Given the description of an element on the screen output the (x, y) to click on. 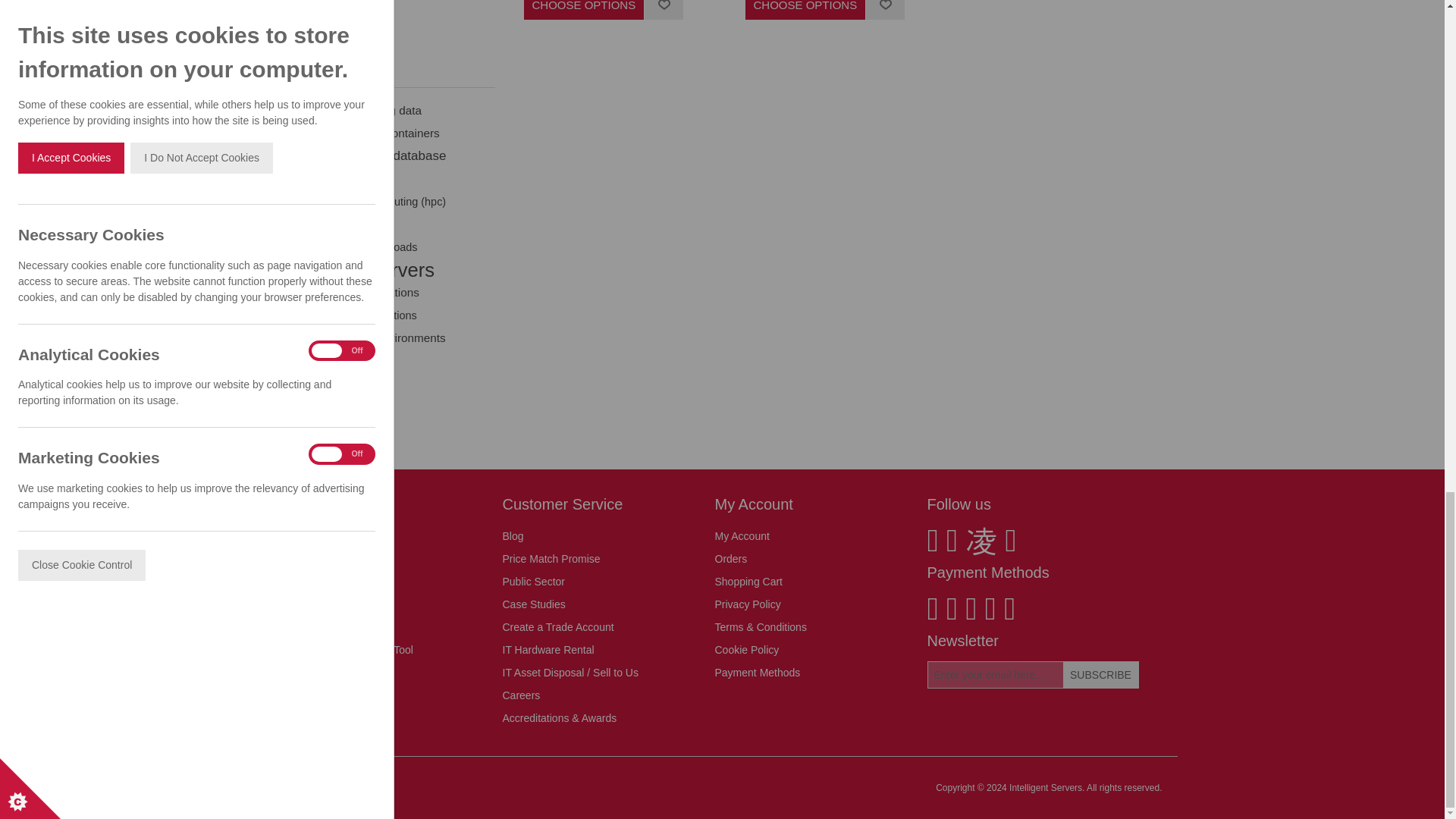
Add to wishlist (884, 9)
Choose Options (583, 9)
Add to wishlist (663, 9)
Add to wishlist (663, 9)
Choose Options (804, 9)
Add to wishlist (884, 9)
